Given the description of an element on the screen output the (x, y) to click on. 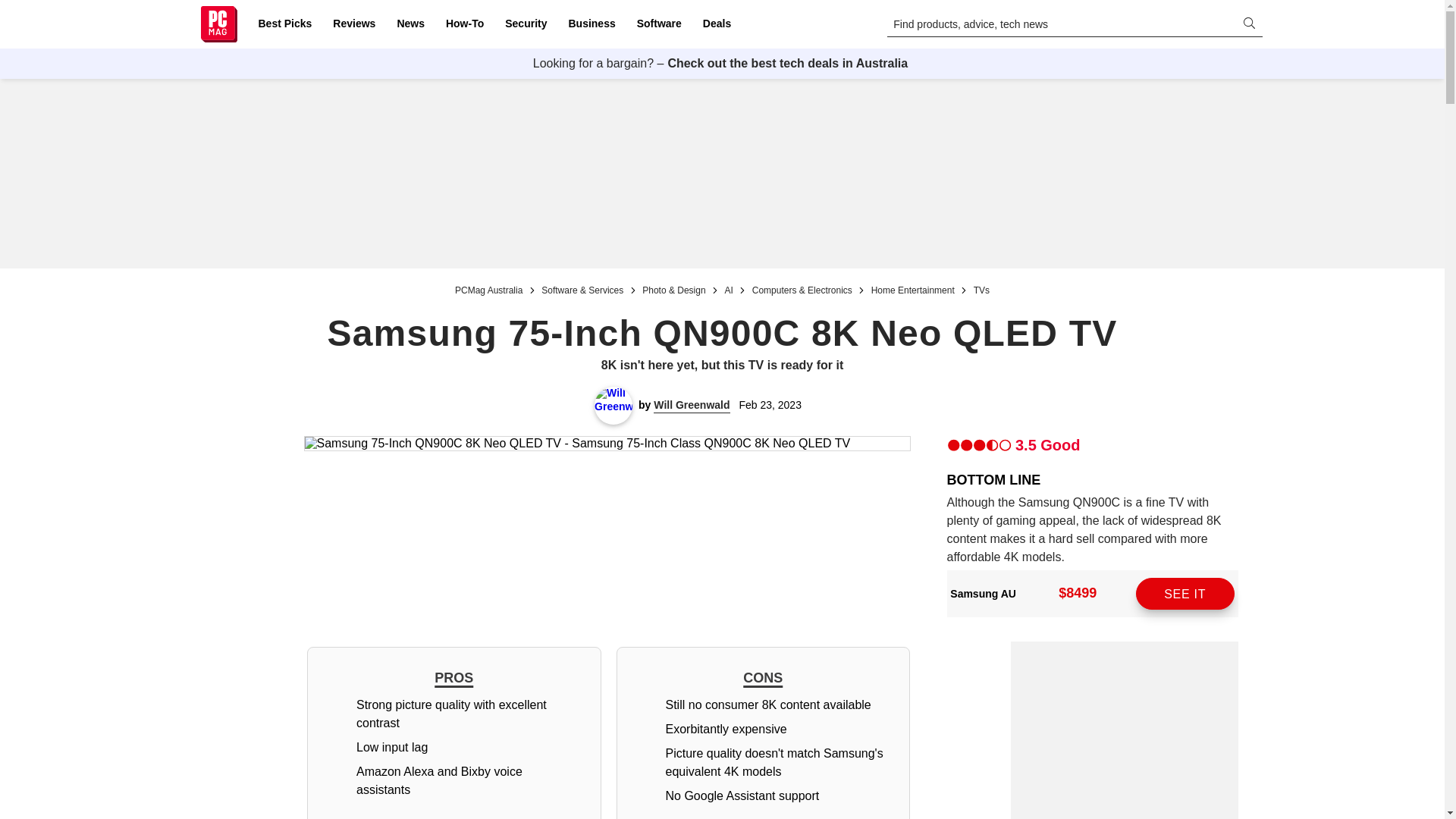
How-To (464, 24)
Security (526, 24)
Best Picks (284, 24)
Business (591, 24)
Reviews (353, 24)
News (410, 24)
